Given the description of an element on the screen output the (x, y) to click on. 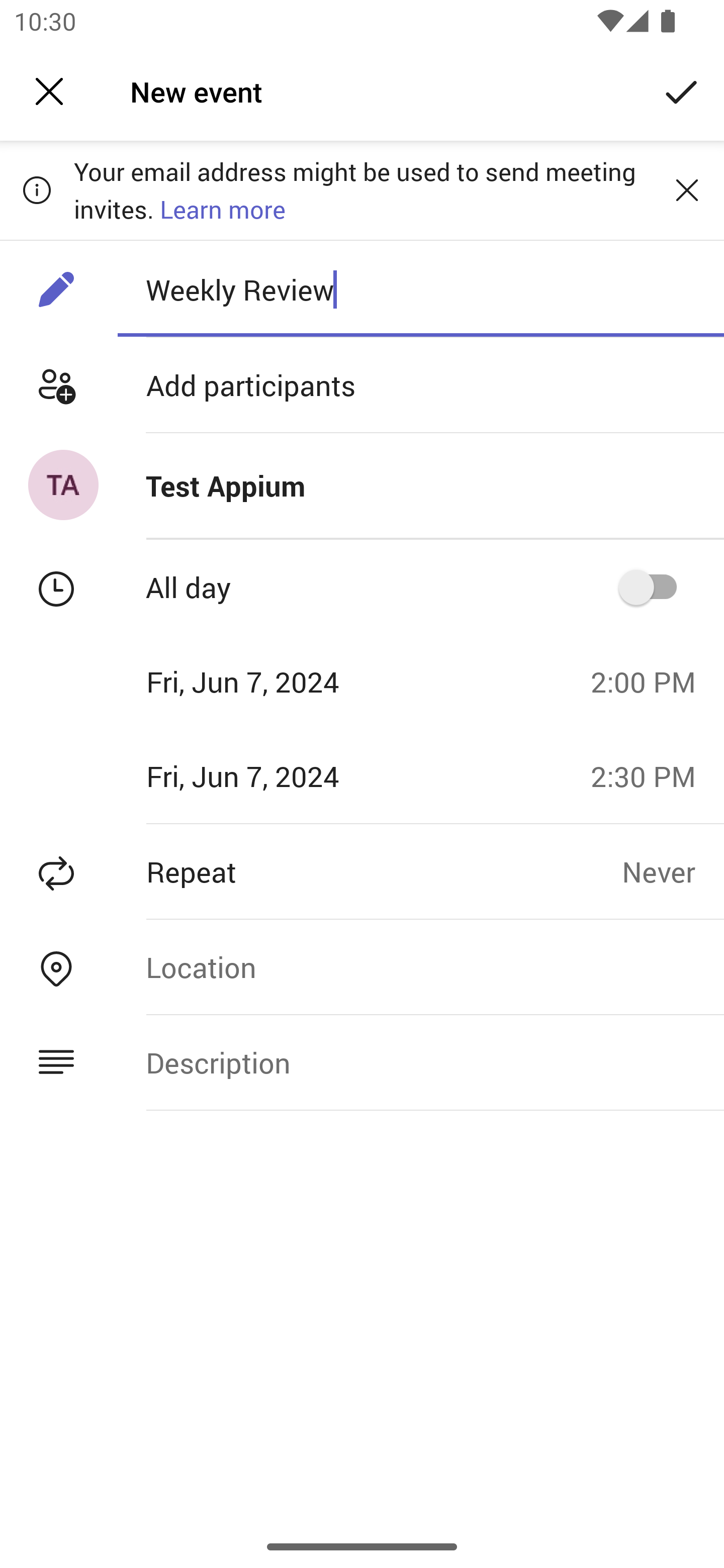
Back (49, 91)
Send invite (681, 90)
Dismiss banner (687, 189)
Weekly Review (420, 289)
Add participants Add participants option (362, 384)
All day (654, 586)
Fri, Jun 7, 2024 Starts Friday Jun 07, 2024 (288, 681)
2:00 PM Start time 2:00 PM (650, 681)
Fri, Jun 7, 2024 Ends Friday Jun 07, 2024 (288, 776)
2:30 PM End time 2:30 PM (650, 776)
Repeat (310, 871)
Never Repeat Never (672, 871)
Location (420, 967)
Description (420, 1062)
